Given the description of an element on the screen output the (x, y) to click on. 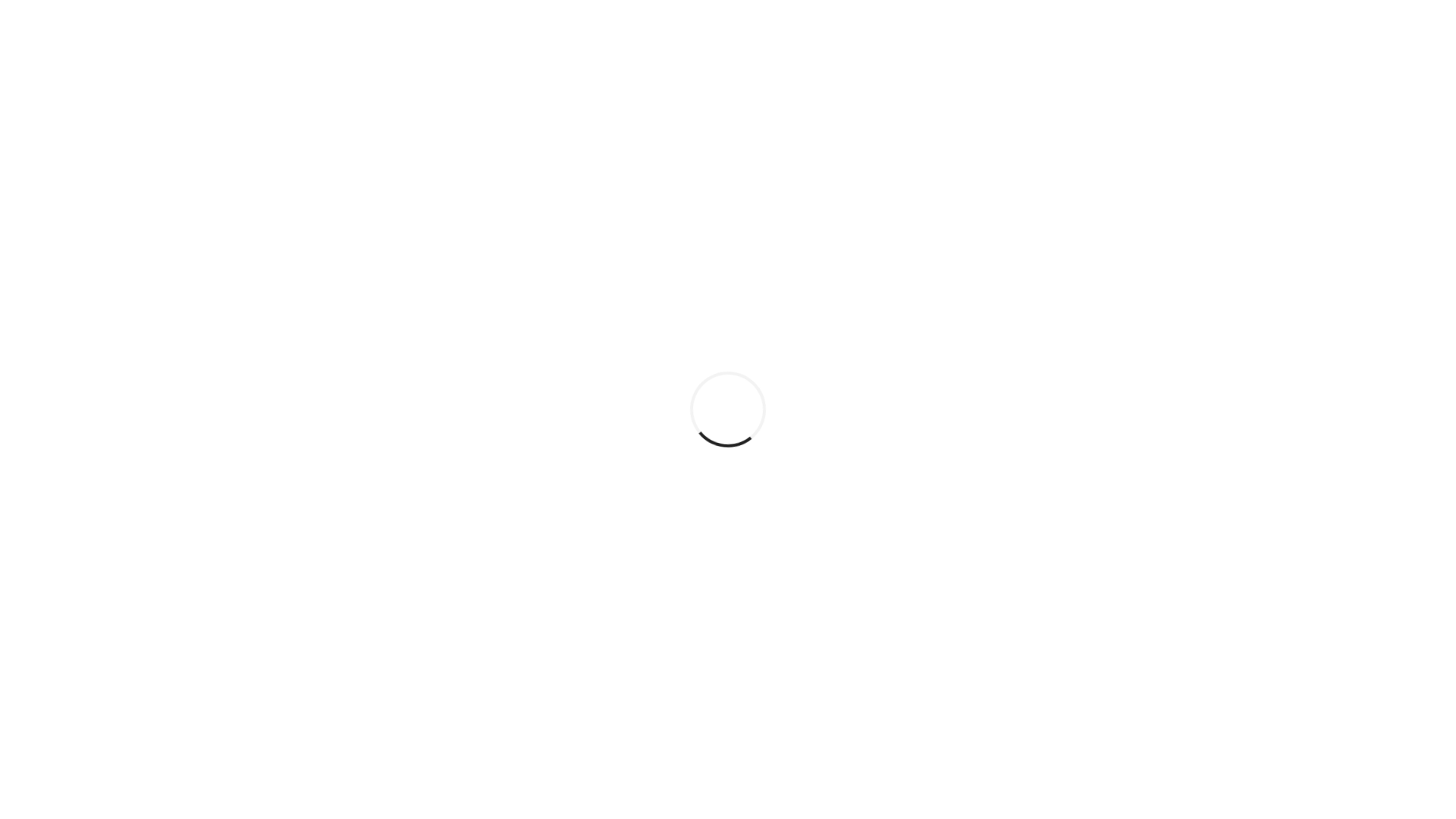
8267 Berlingen Element type: text (547, 720)
cub-e. Element type: text (536, 766)
Impressum Element type: text (975, 700)
+41 79 445 66 64 Element type: text (800, 698)
Datenschutz Element type: text (975, 723)
info@baechiraum.ch Element type: text (810, 720)
